Given the description of an element on the screen output the (x, y) to click on. 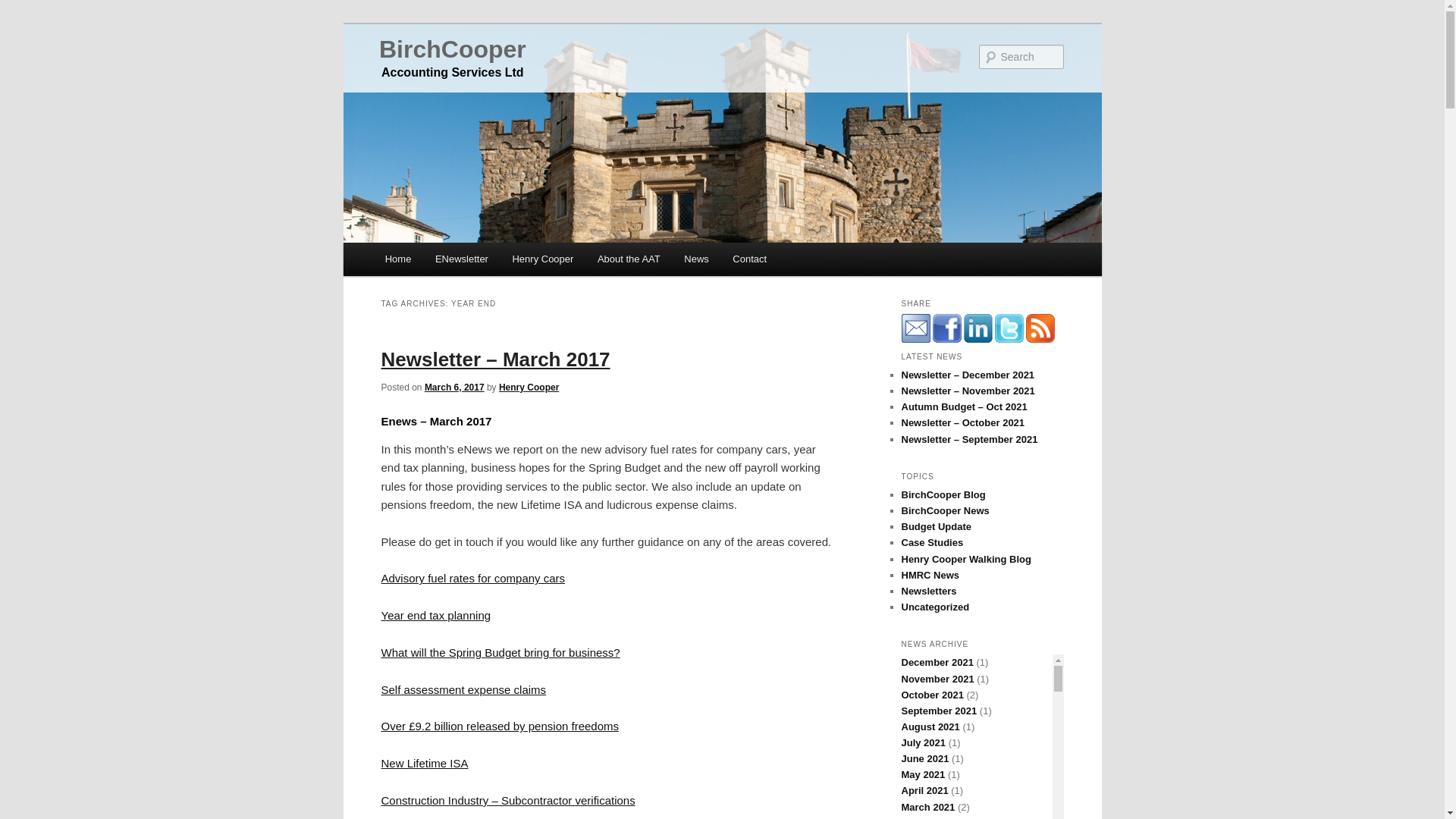
Skip to primary content (452, 261)
Henry Cooper (529, 387)
Advisory fuel rates for company cars (472, 577)
Skip to primary content (452, 261)
What will the Spring Budget bring for business? (500, 652)
Skip to secondary content (459, 261)
Henry Cooper (542, 258)
Year end tax planning (435, 615)
View all posts by Henry Cooper (529, 387)
Skip to secondary content (459, 261)
